Given the description of an element on the screen output the (x, y) to click on. 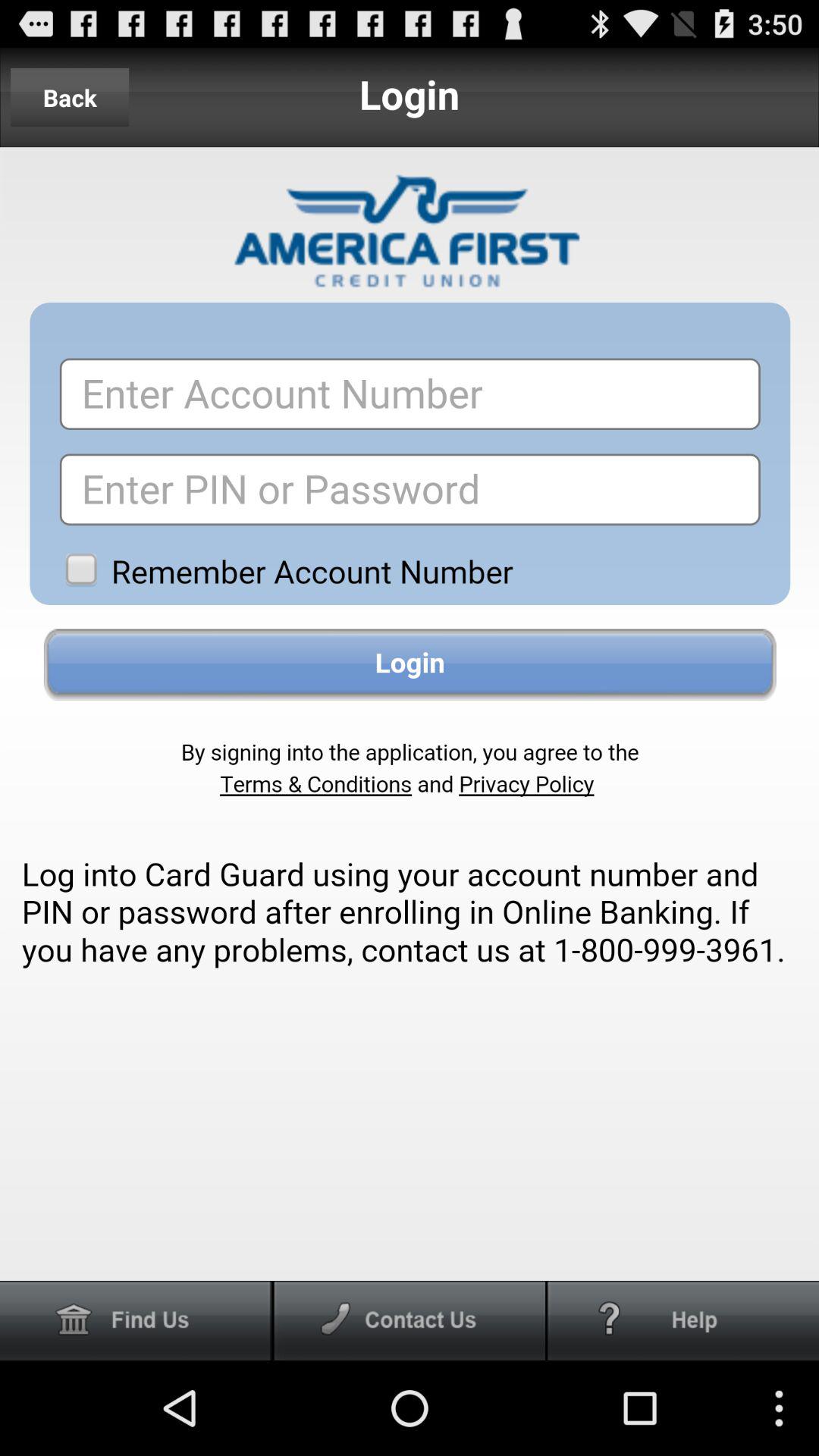
login page (409, 713)
